Given the description of an element on the screen output the (x, y) to click on. 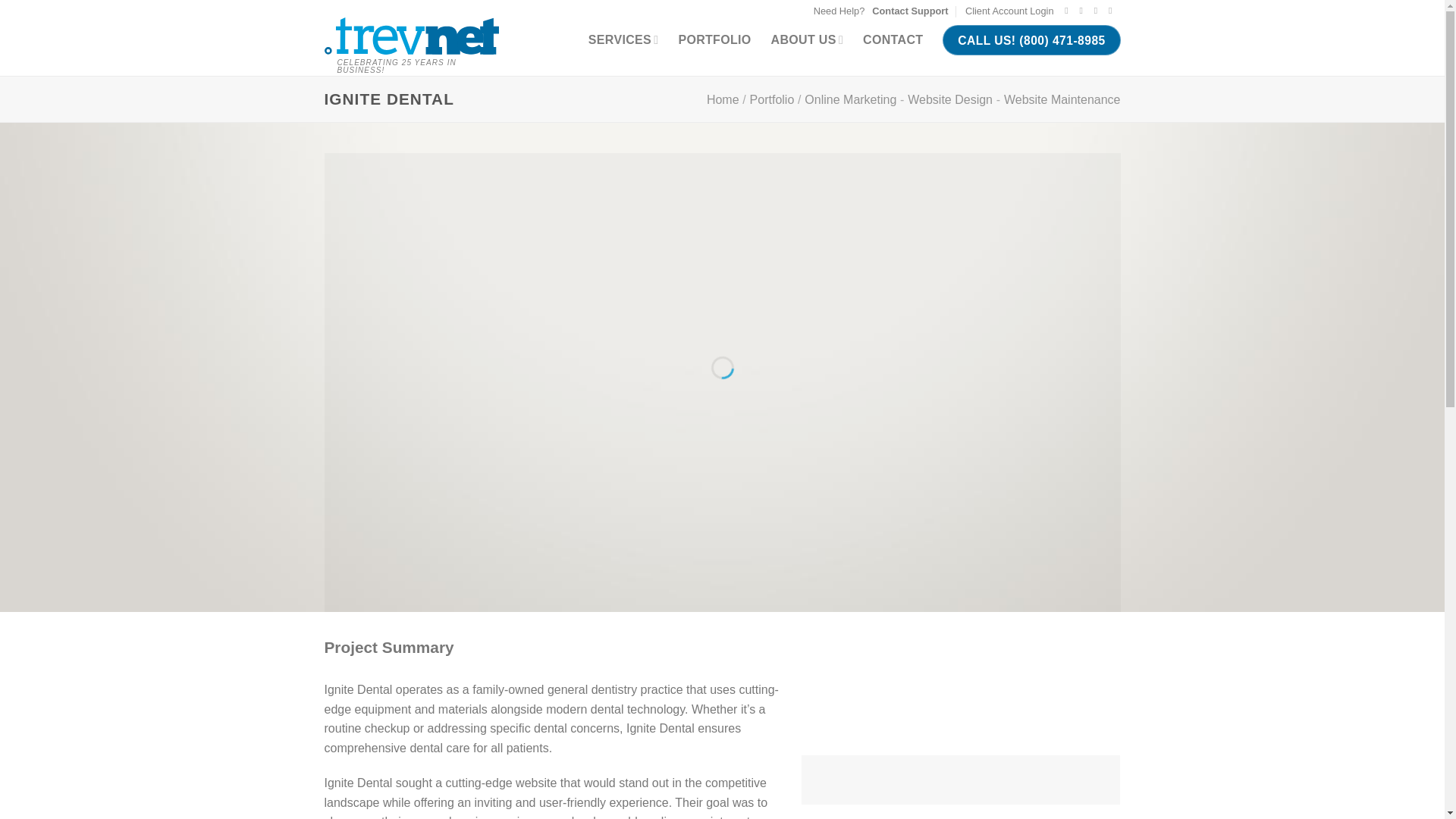
Portfolio (771, 99)
SERVICES (623, 39)
PORTFOLIO (881, 11)
Home (714, 40)
Website Maintenance (722, 99)
TrevNet Media Corp. - Celebrating 25 Years In Business! (1062, 99)
CONTACT (411, 35)
Client Account Login (893, 40)
Website Design (1009, 11)
